Given the description of an element on the screen output the (x, y) to click on. 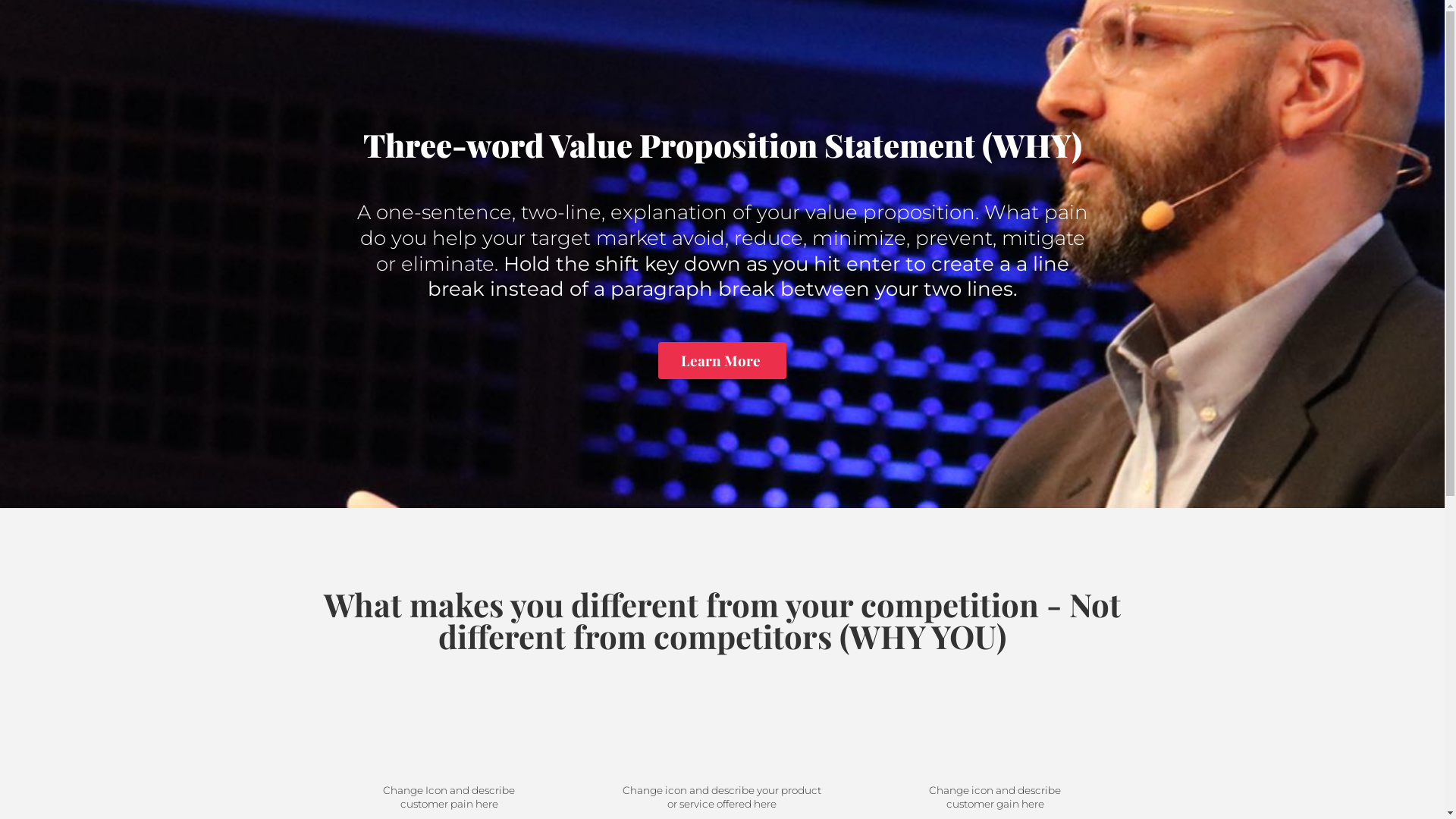
Learn More Element type: text (722, 360)
